Given the description of an element on the screen output the (x, y) to click on. 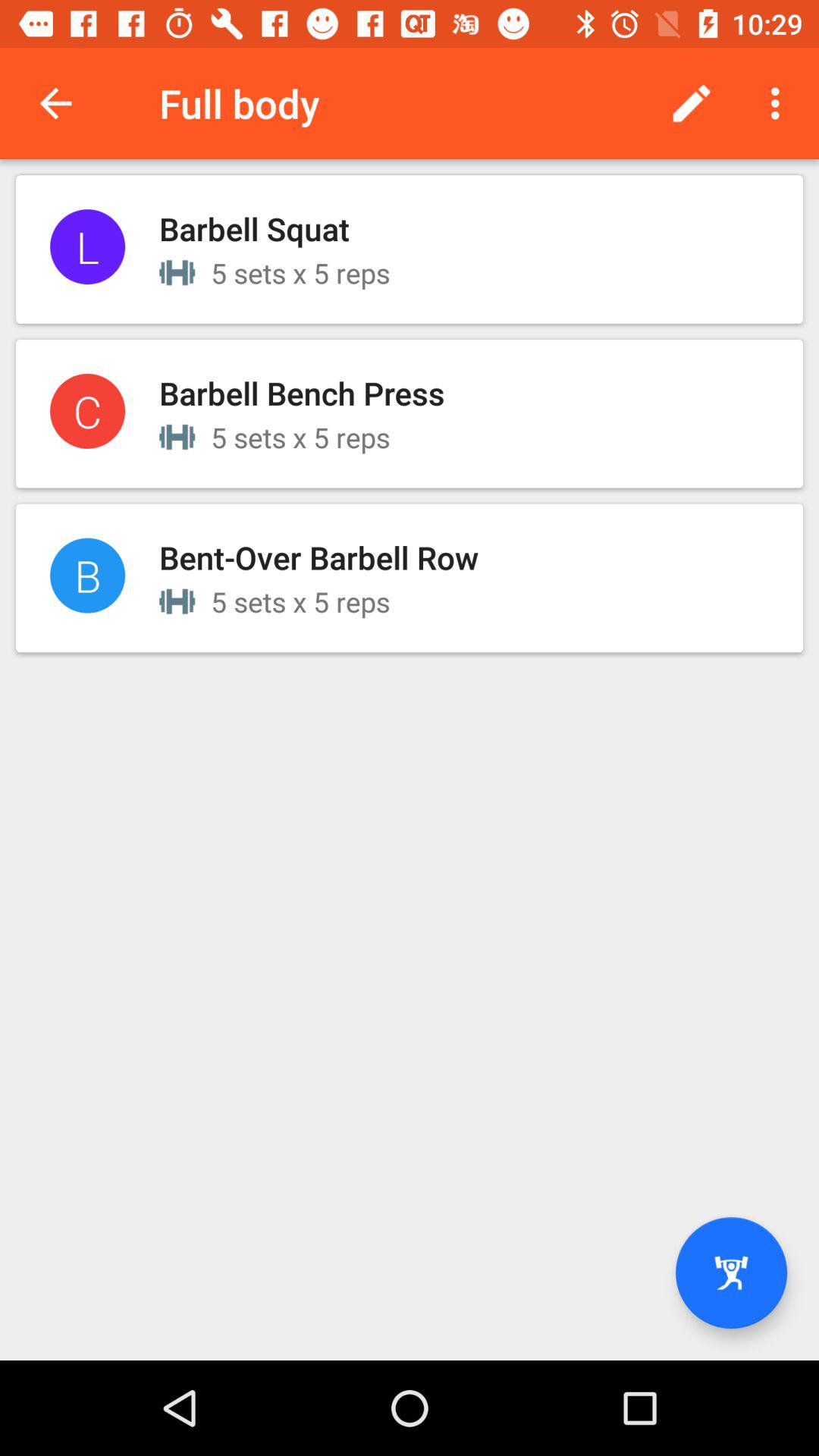
press item above the l item (55, 103)
